Given the description of an element on the screen output the (x, y) to click on. 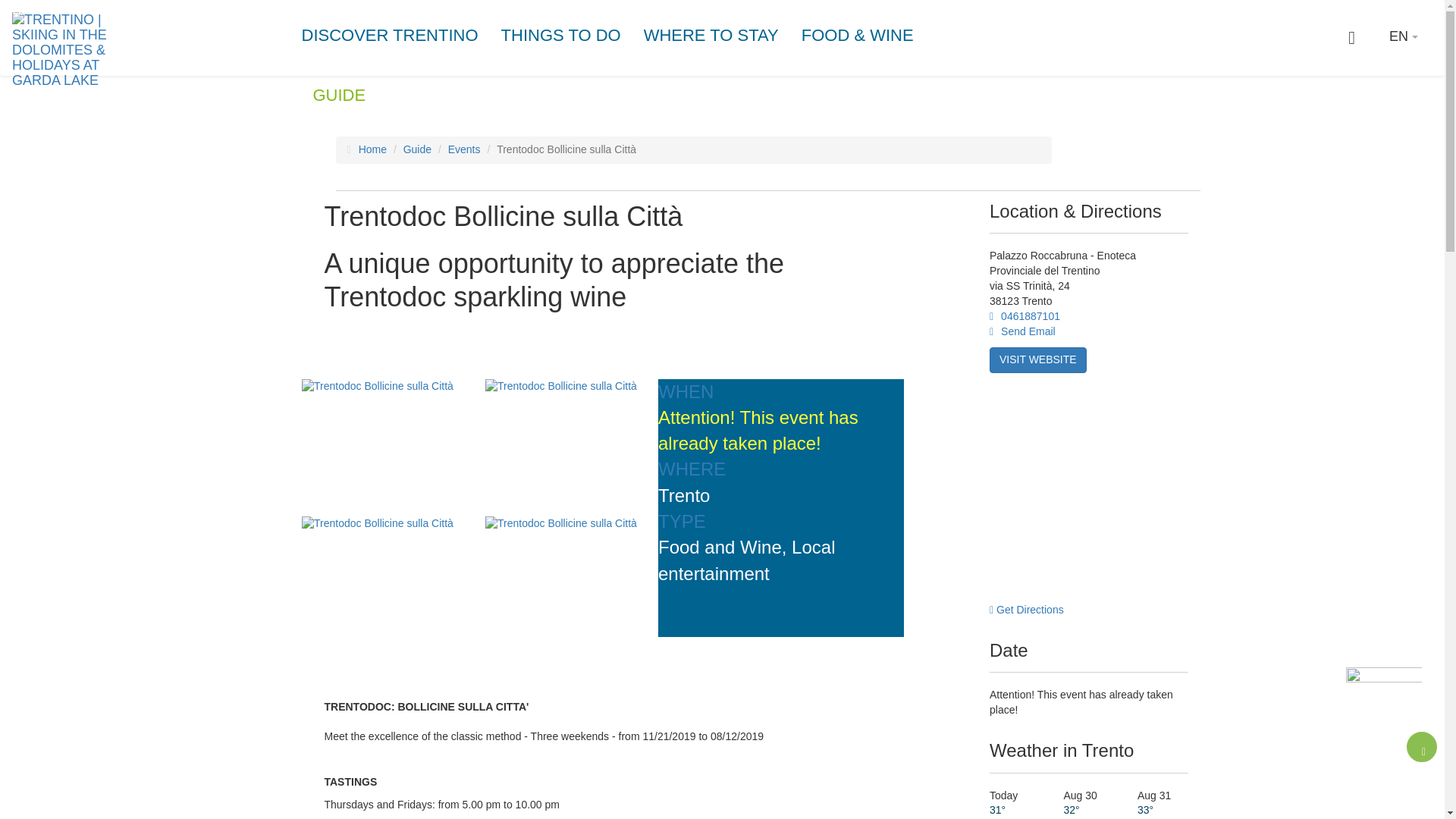
WHERE TO STAY (710, 35)
THINGS TO DO (560, 35)
DISCOVER TRENTINO (395, 35)
